Given the description of an element on the screen output the (x, y) to click on. 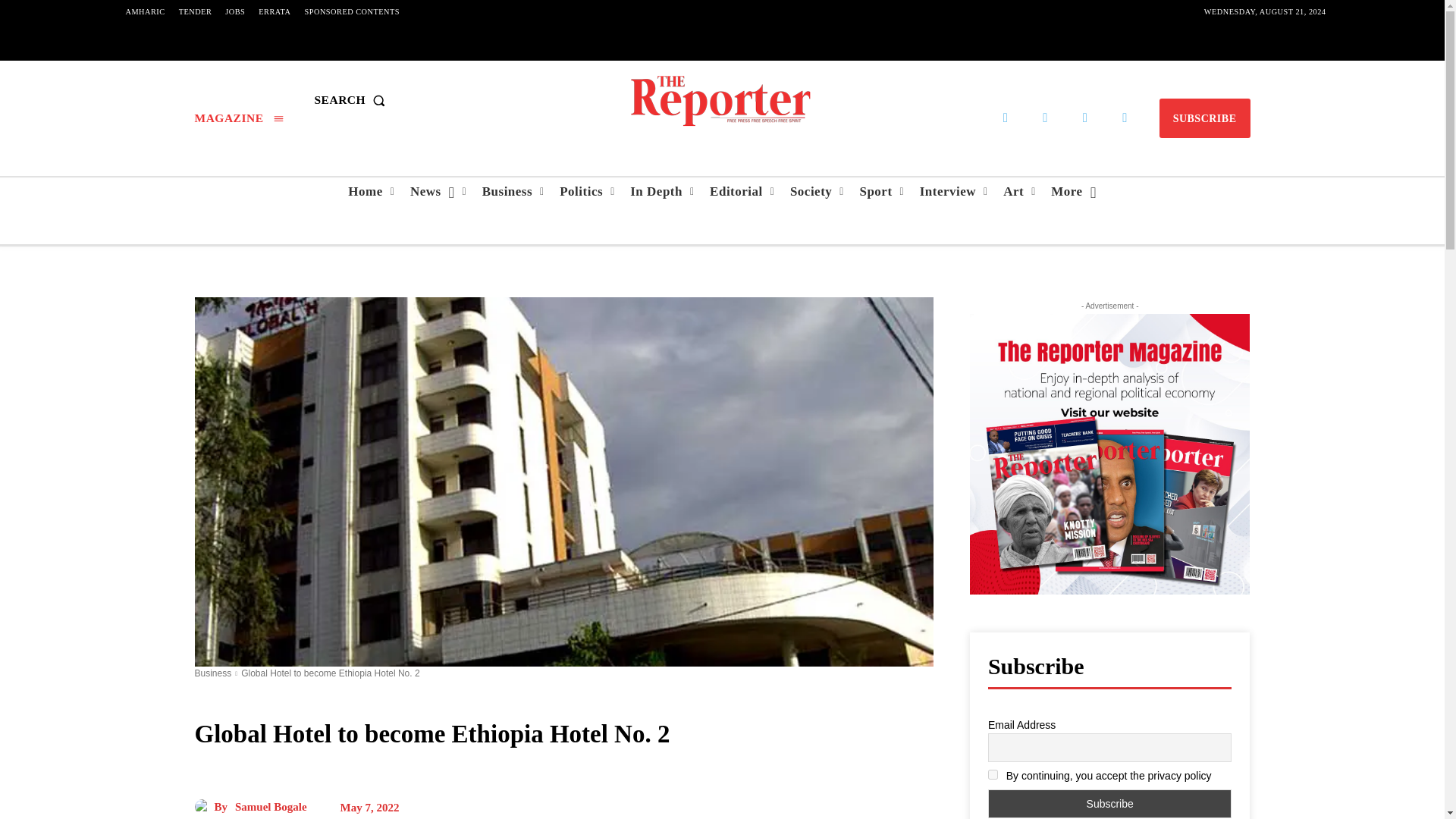
JOBS (234, 12)
MAGAZINE (238, 117)
The Reporter Ethiopia, Ethiopian News (721, 99)
AMHARIC (144, 12)
Subscribe (1109, 803)
Magazine (238, 117)
SEARCH (352, 99)
ERRATA (274, 12)
The Reporter Ethiopia, Ethiopian News (721, 99)
Facebook (1006, 118)
